Given the description of an element on the screen output the (x, y) to click on. 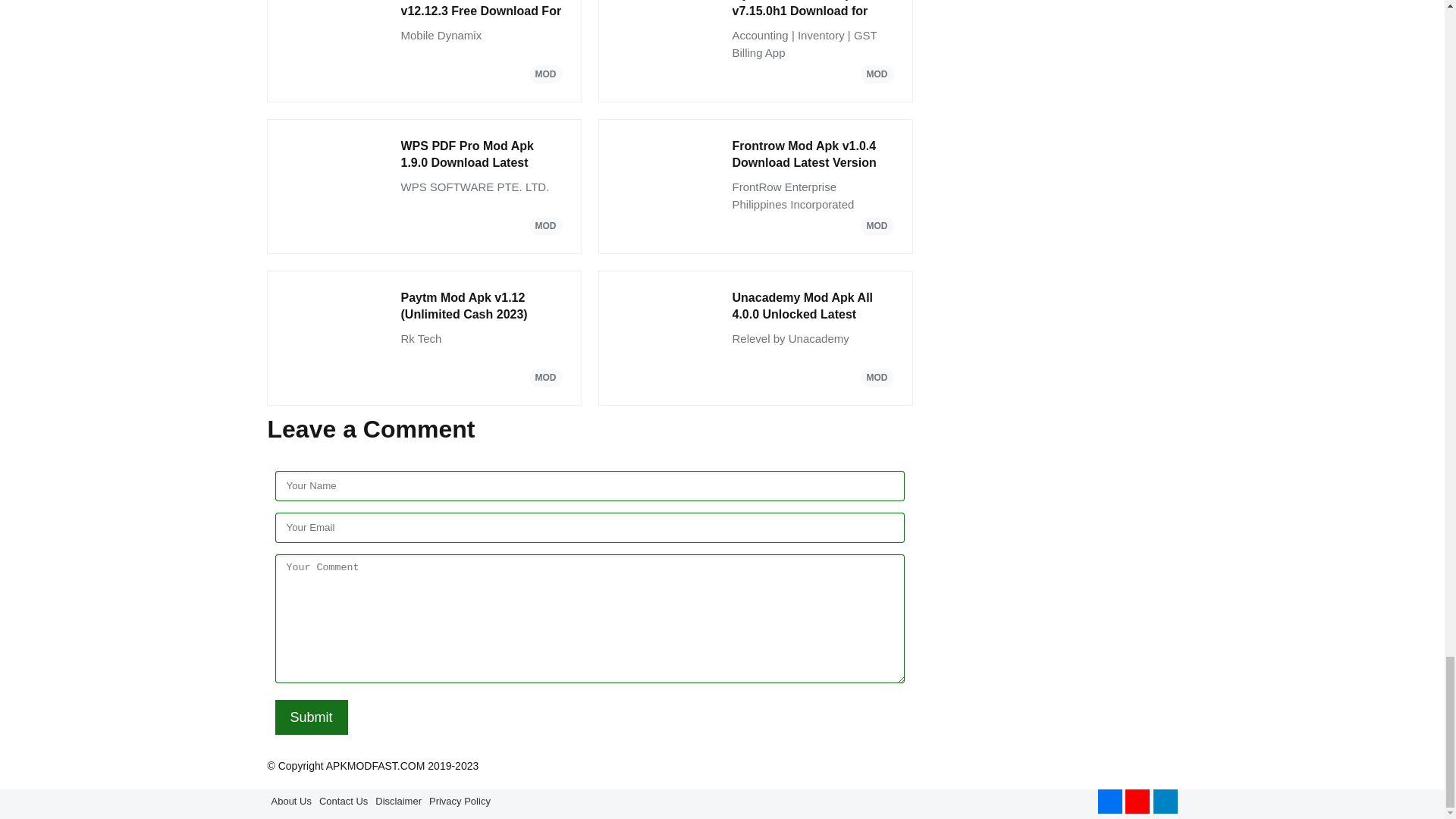
Unacademy Mod Apk All 4.0.0 Unlocked Latest Version (812, 306)
Official Facebook Page of APKSAY.COM (1109, 801)
WPS PDF Pro Mod Apk 1.9.0 Download Latest Version 2023 (481, 154)
Print Share MOD APK v12.12.3 Free Download For Android (481, 10)
Print Share MOD APK V12.12.3 Free Download For Android (481, 10)
Frontrow Mod Apk v1.0.4 Download Latest Version For Android (812, 154)
Frontrow Mod Apk V1.0.4 Download Latest Version For Android (812, 154)
My Bill Book Mod Apk v7.15.0h1 Download for Android (812, 10)
My Bill Book Mod Apk V7.15.0h1 Download For Android (812, 10)
WPS PDF Pro Mod Apk 1.9.0 Download Latest Version 2023 (481, 154)
